Given the description of an element on the screen output the (x, y) to click on. 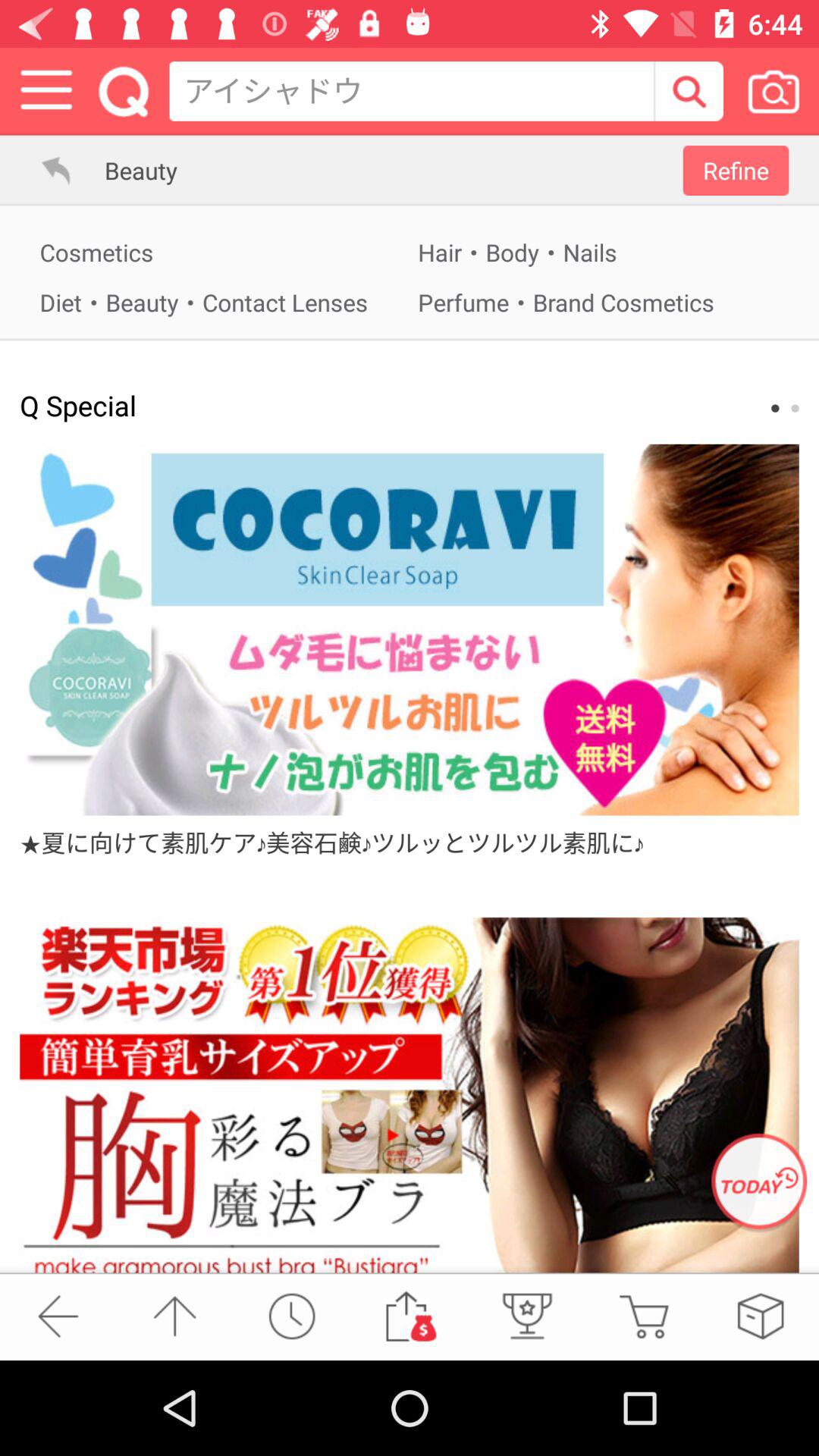
take a picture (773, 91)
